Given the description of an element on the screen output the (x, y) to click on. 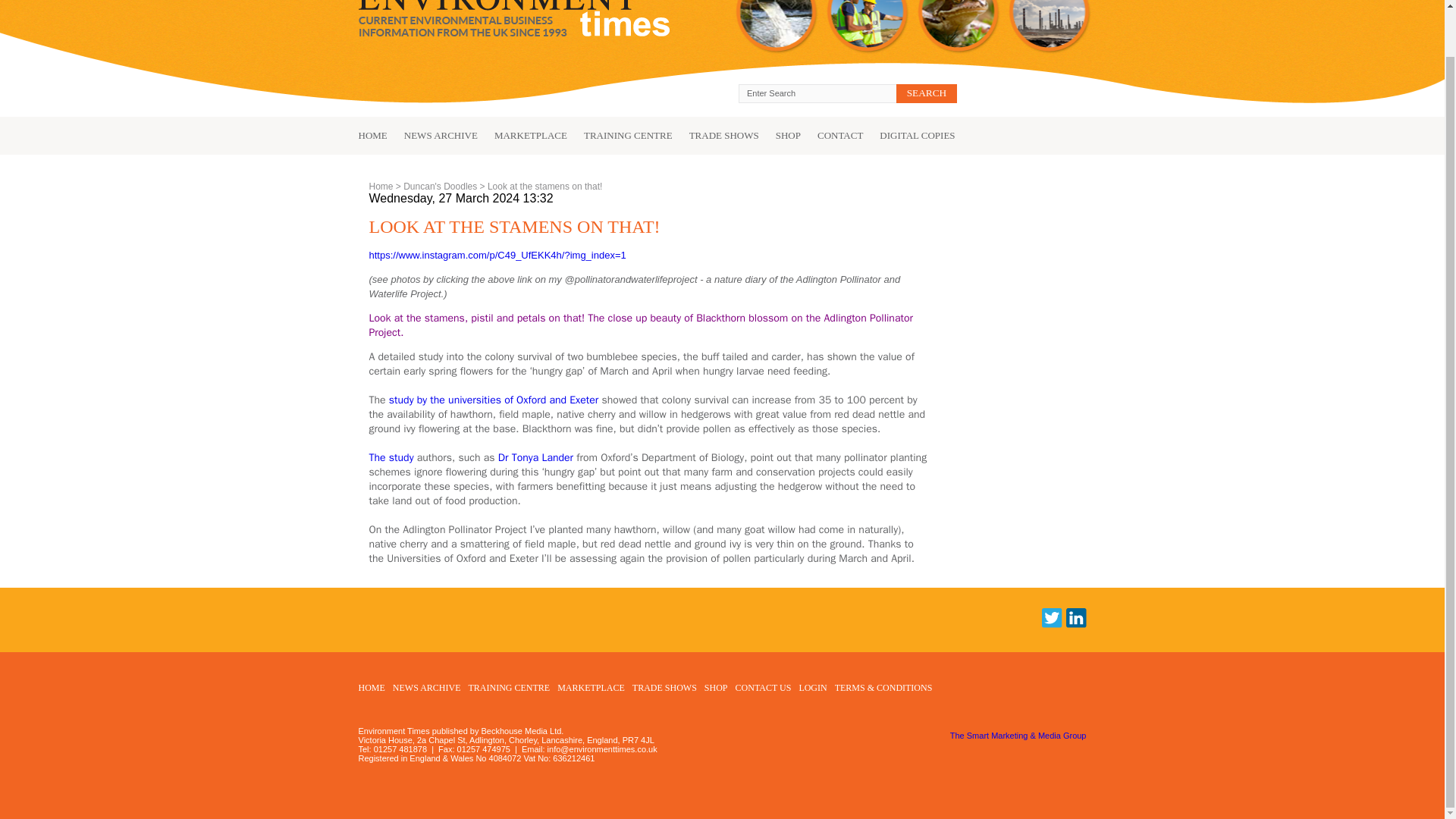
TRAINING CENTRE (509, 687)
LOGIN (812, 687)
MARKETPLACE (590, 687)
Dr Tonya Lander (534, 457)
SHOP (779, 134)
SEARCH (926, 93)
Enter Search (818, 93)
Duncan's Doodles (440, 185)
NEWS ARCHIVE (432, 134)
MARKETPLACE (522, 134)
CONTACT US (763, 687)
The study (390, 457)
HOME (372, 134)
TRADE SHOWS (664, 687)
Home (380, 185)
